Given the description of an element on the screen output the (x, y) to click on. 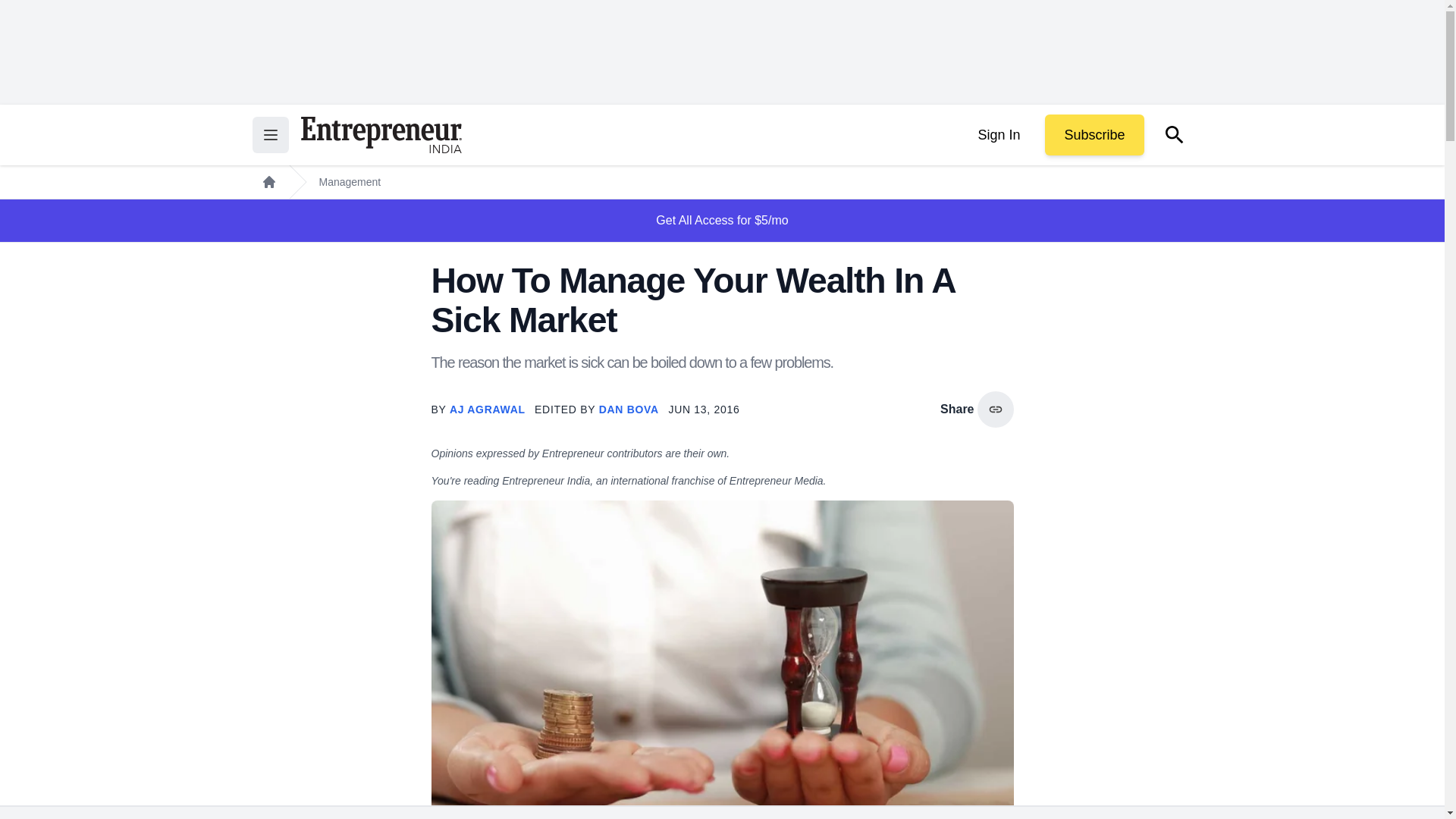
Sign In (998, 134)
Subscribe (1093, 134)
Return to the home page (380, 135)
copy (994, 409)
